Given the description of an element on the screen output the (x, y) to click on. 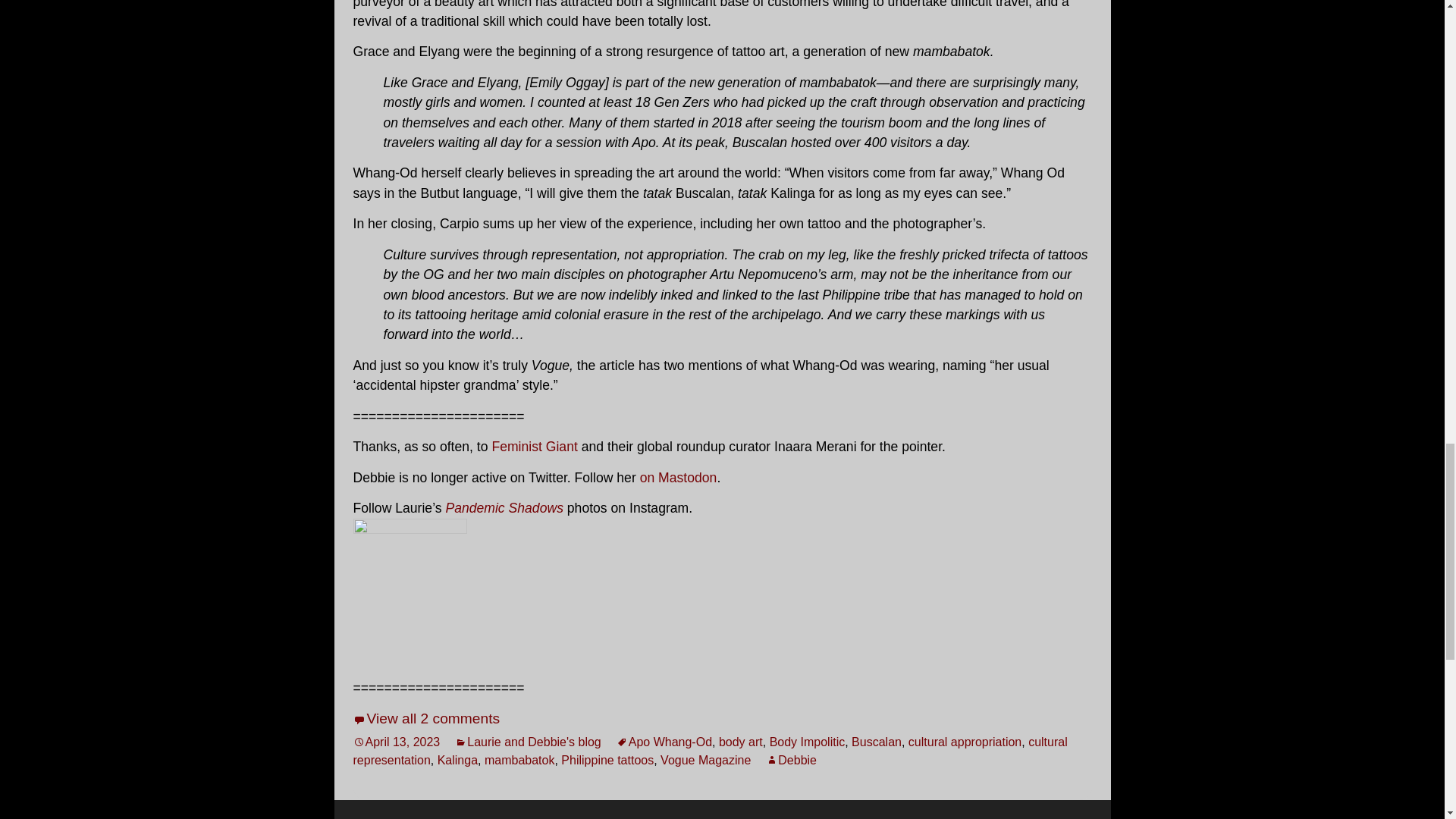
Pandemic Shadows (504, 507)
Laurie and Debbie's blog (527, 741)
cultural representation (710, 750)
on Mastodon (678, 477)
mambabatok (519, 759)
April 13, 2023 (397, 741)
Buscalan (876, 741)
Kalinga (457, 759)
Philippine tattoos (606, 759)
View all posts by Debbie (790, 759)
cultural appropriation (965, 741)
Body Impolitic (807, 741)
Apo Whang-Od (663, 741)
Feminist Giant (534, 446)
